Given the description of an element on the screen output the (x, y) to click on. 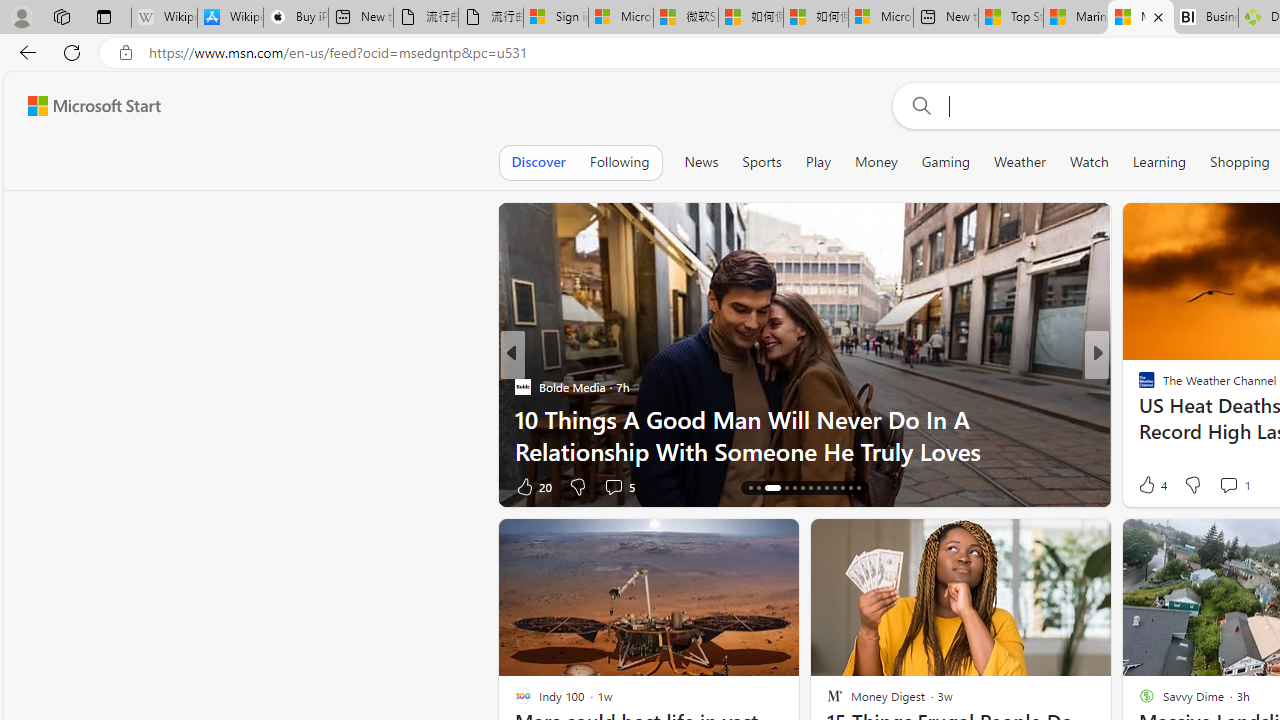
Money (876, 162)
Weather (1020, 161)
Skip to content (86, 105)
MSNBC (1138, 386)
AutomationID: tab-21 (818, 487)
Hide this story (1050, 542)
Sports (761, 161)
Shopping (1240, 161)
